Given the description of an element on the screen output the (x, y) to click on. 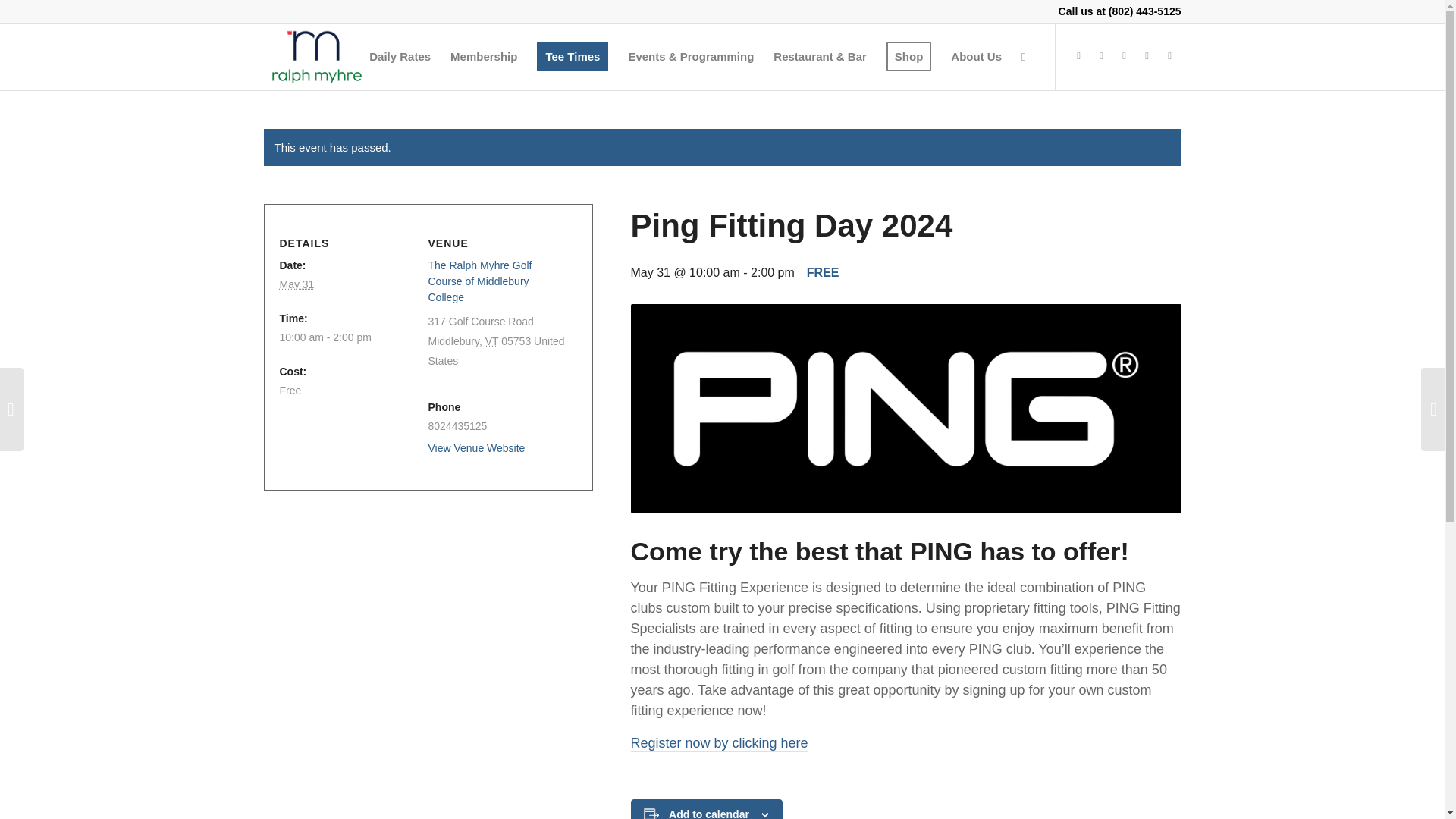
Daily Rates (400, 56)
View Venue Website (476, 448)
Rss (1169, 56)
Twitter (1101, 56)
Tee Times (572, 56)
Add to calendar (708, 813)
Vermont (491, 340)
Youtube (1124, 56)
Facebook (1078, 56)
The Ralph Myhre Golf Course of Middlebury College (479, 281)
